Given the description of an element on the screen output the (x, y) to click on. 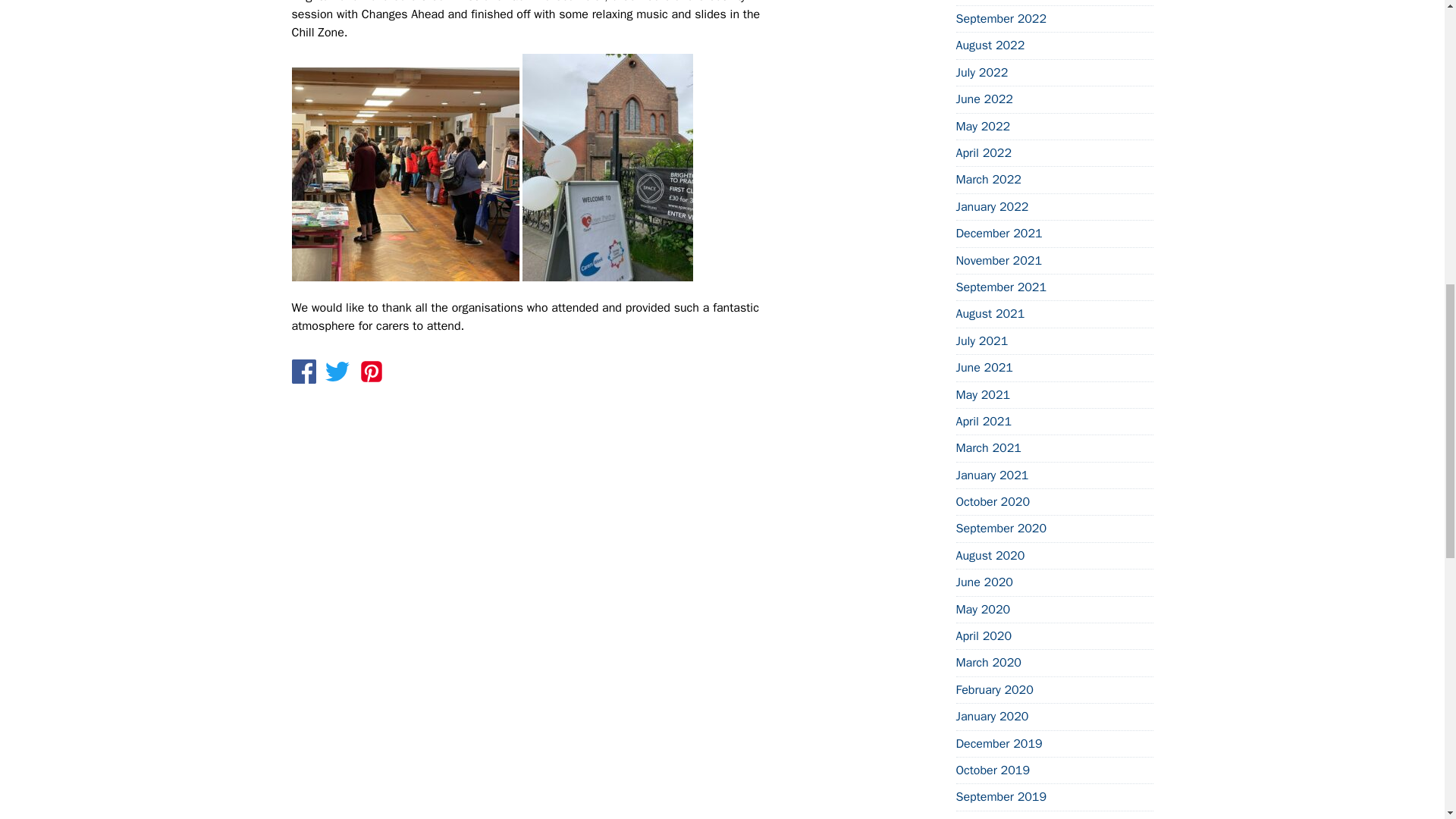
Facebook icon (303, 371)
Twitter icon (336, 371)
Pinterest icon (371, 371)
